Given the description of an element on the screen output the (x, y) to click on. 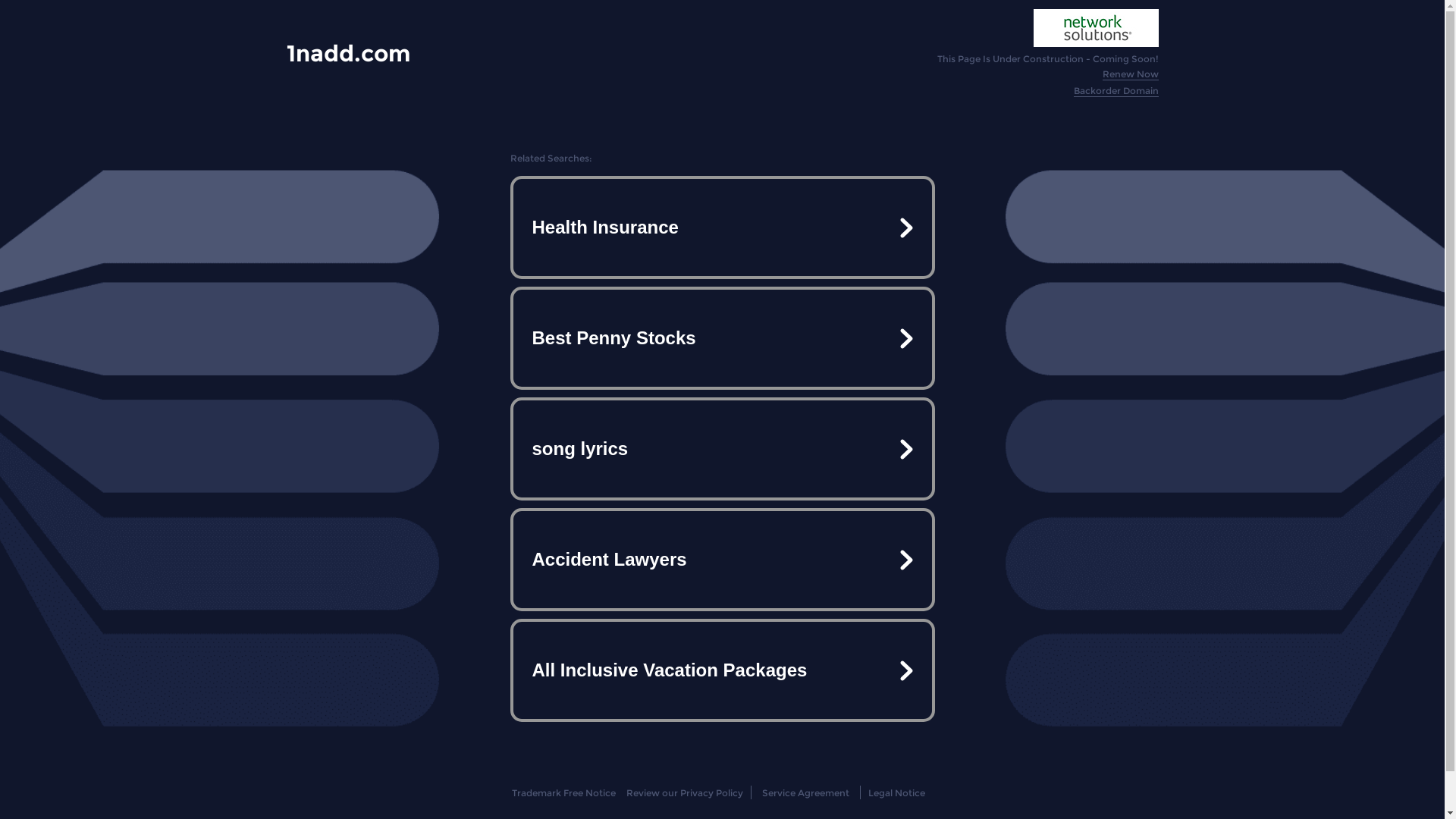
Trademark Free Notice Element type: text (563, 792)
All Inclusive Vacation Packages Element type: text (721, 669)
song lyrics Element type: text (721, 448)
Legal Notice Element type: text (896, 792)
Best Penny Stocks Element type: text (721, 337)
Backorder Domain Element type: text (1115, 90)
Service Agreement Element type: text (805, 792)
1nadd.com Element type: text (348, 53)
Health Insurance Element type: text (721, 227)
Accident Lawyers Element type: text (721, 559)
Review our Privacy Policy Element type: text (684, 792)
Renew Now Element type: text (1130, 74)
